Given the description of an element on the screen output the (x, y) to click on. 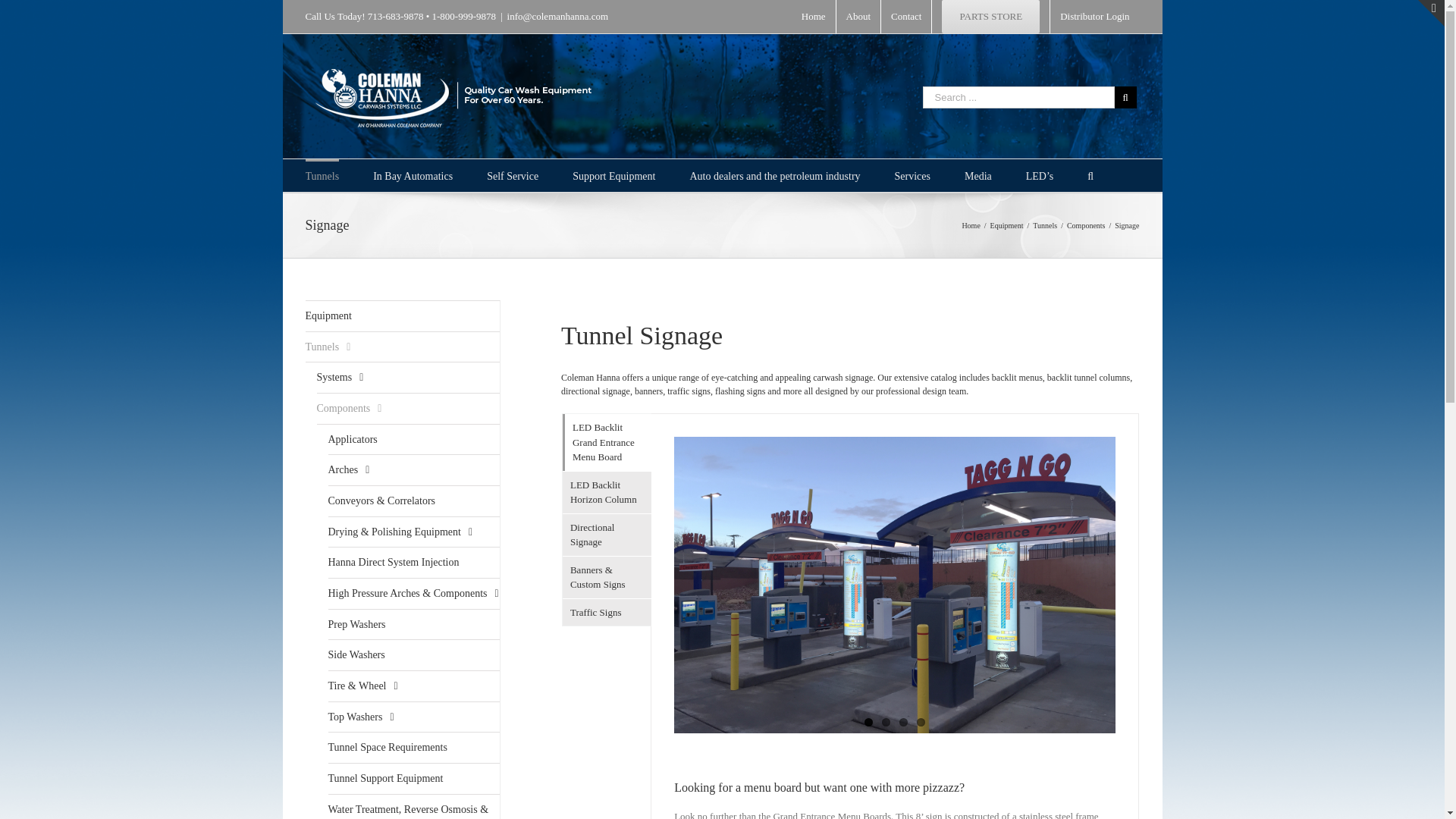
Home (813, 16)
Distributor Login (1093, 16)
About (857, 16)
PARTS STORE (990, 16)
Contact (905, 16)
